Given the description of an element on the screen output the (x, y) to click on. 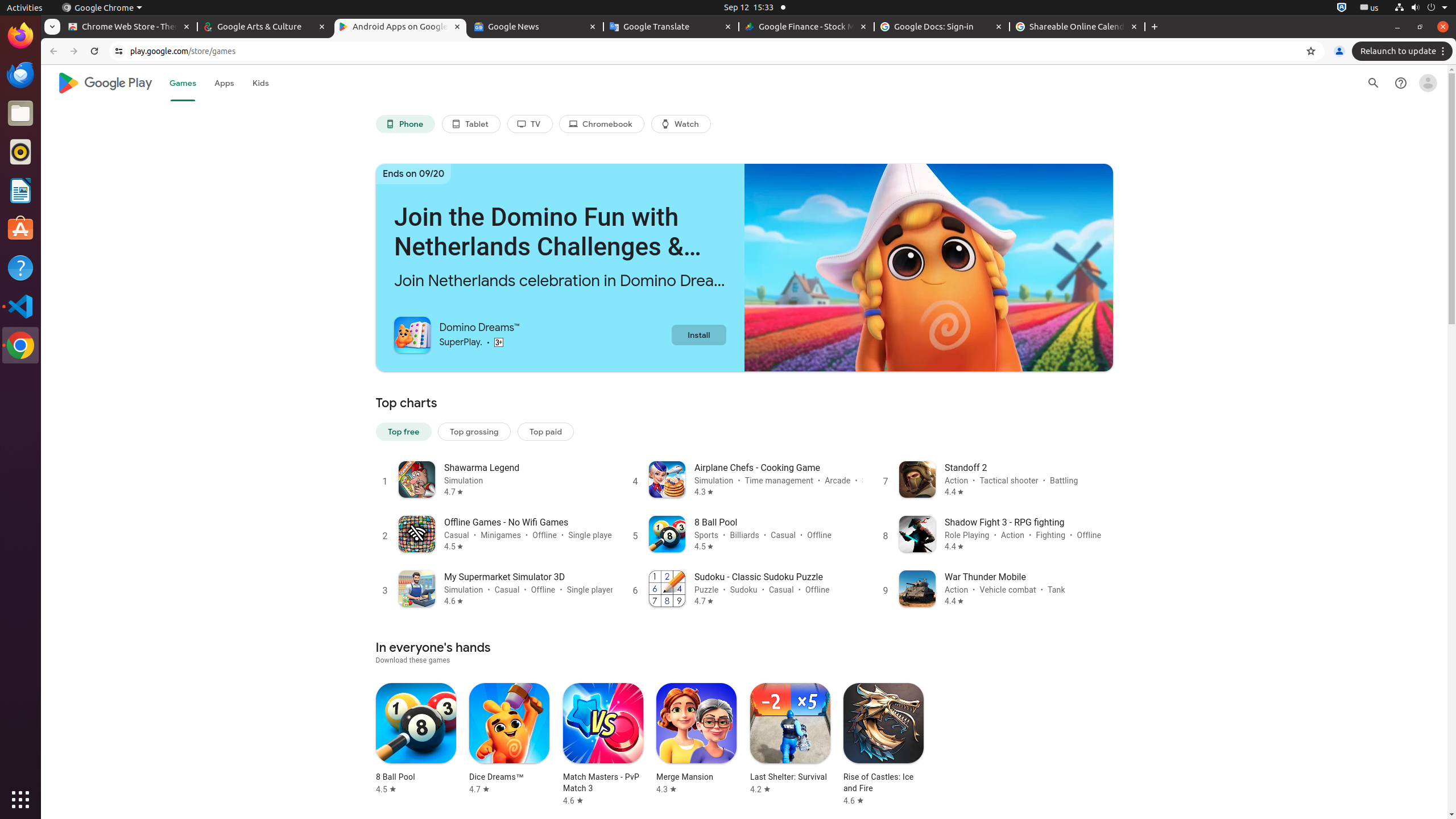
Show Applications Element type: toggle-button (20, 799)
LibreOffice Writer Element type: push-button (20, 190)
Back Element type: push-button (51, 50)
Google Chrome Element type: menu (101, 7)
New Tab Element type: push-button (1154, 26)
